Given the description of an element on the screen output the (x, y) to click on. 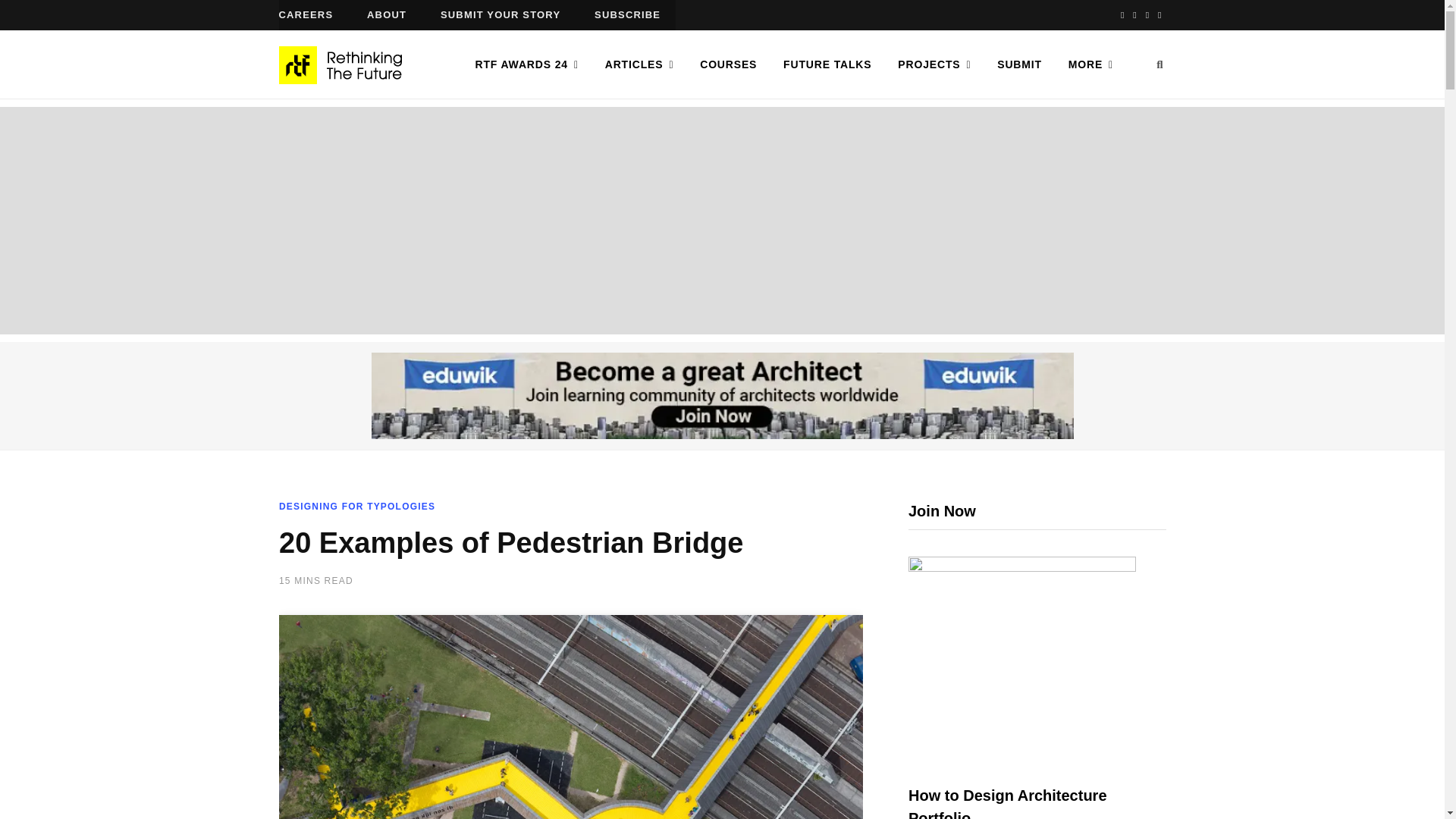
SUBSCRIBE (627, 15)
SUBMIT YOUR STORY (500, 15)
20 Examples of Pedestrian Bridge (571, 716)
RTF AWARDS 24 (526, 64)
CAREERS (306, 15)
ABOUT (387, 15)
